Given the description of an element on the screen output the (x, y) to click on. 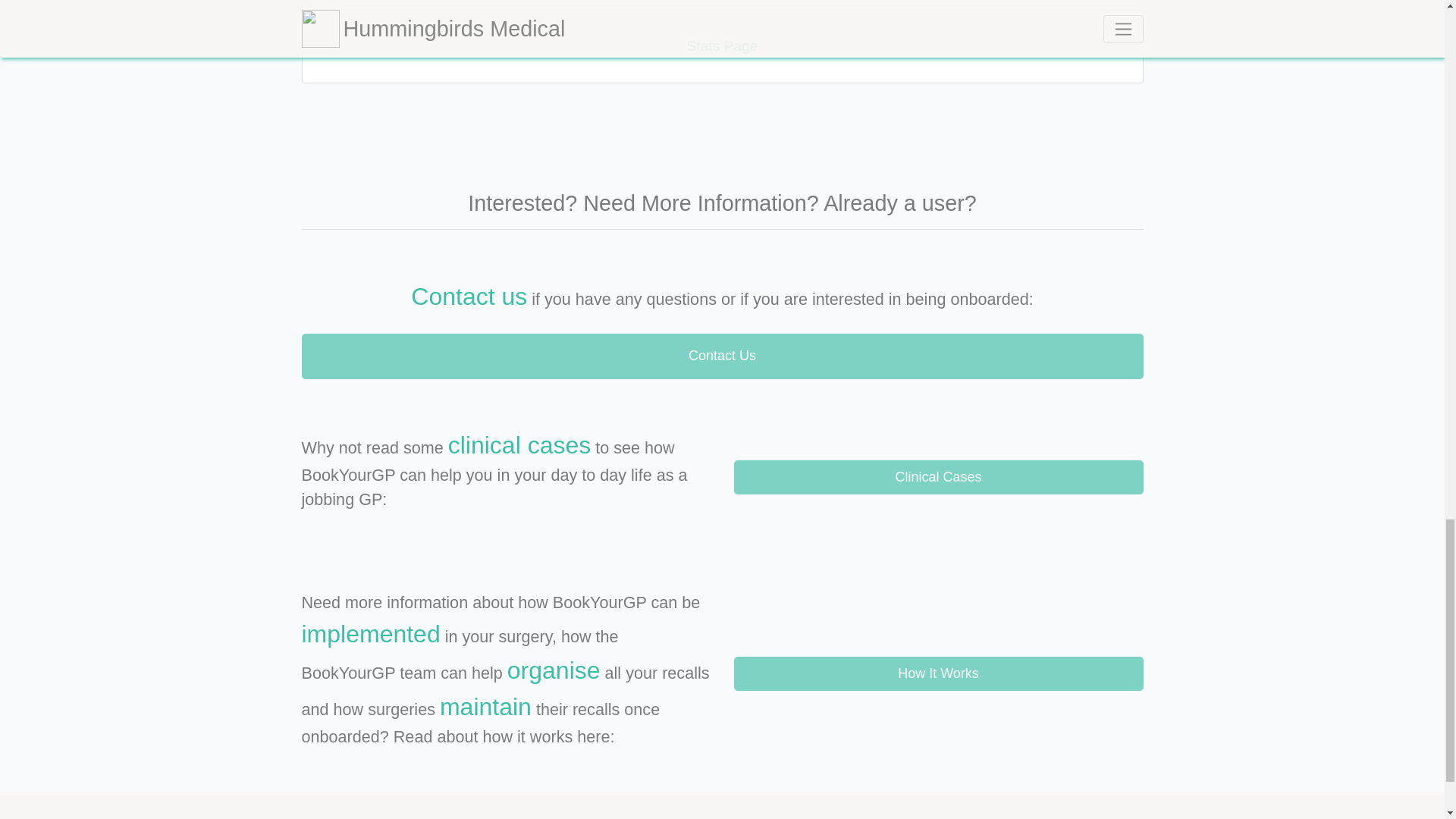
Stats Page (721, 46)
